Given the description of an element on the screen output the (x, y) to click on. 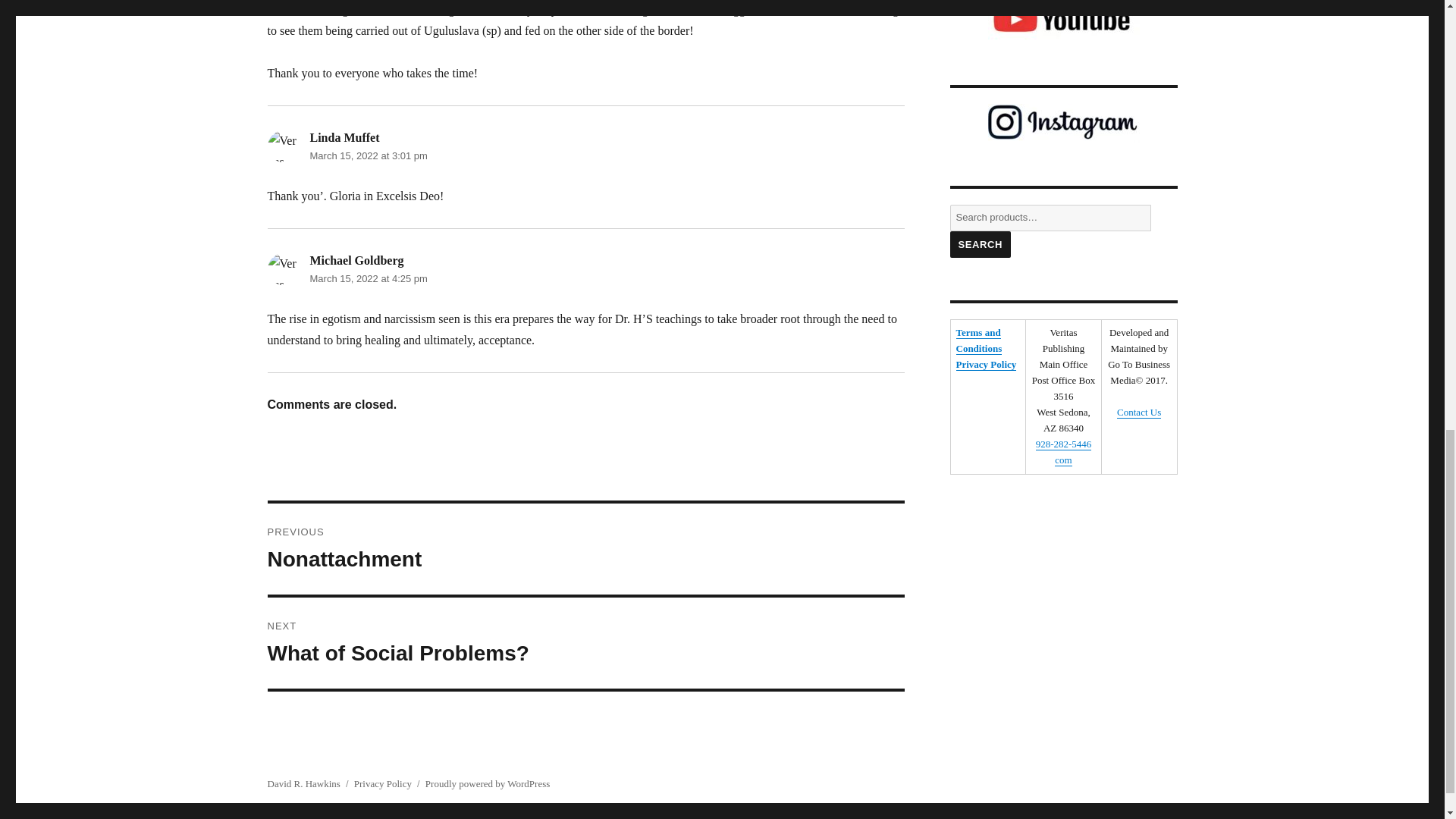
Veritas Administration (282, 146)
Veritas Administration (282, 269)
March 15, 2022 at 3:01 pm (367, 155)
